Given the description of an element on the screen output the (x, y) to click on. 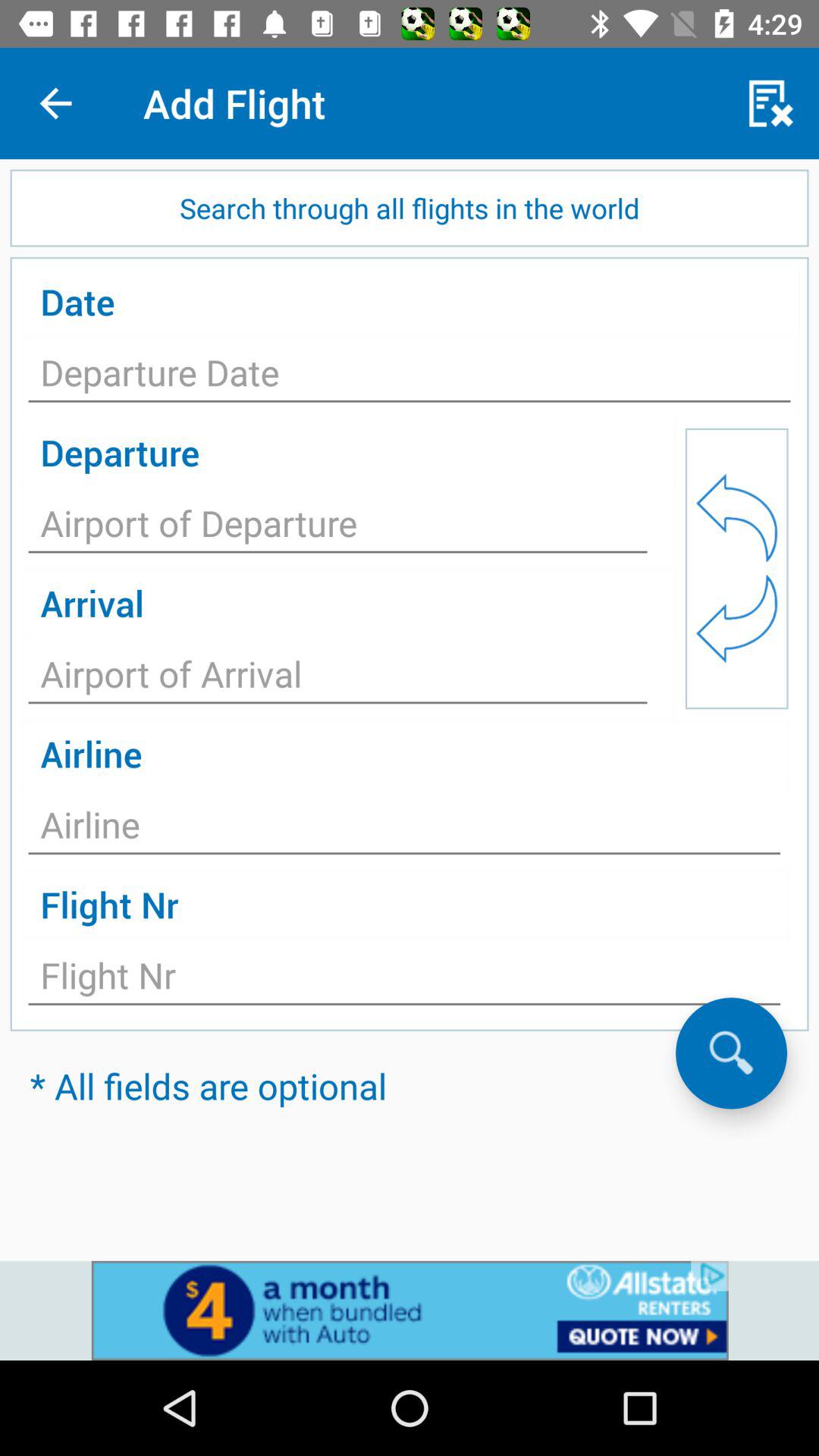
application (337, 527)
